Given the description of an element on the screen output the (x, y) to click on. 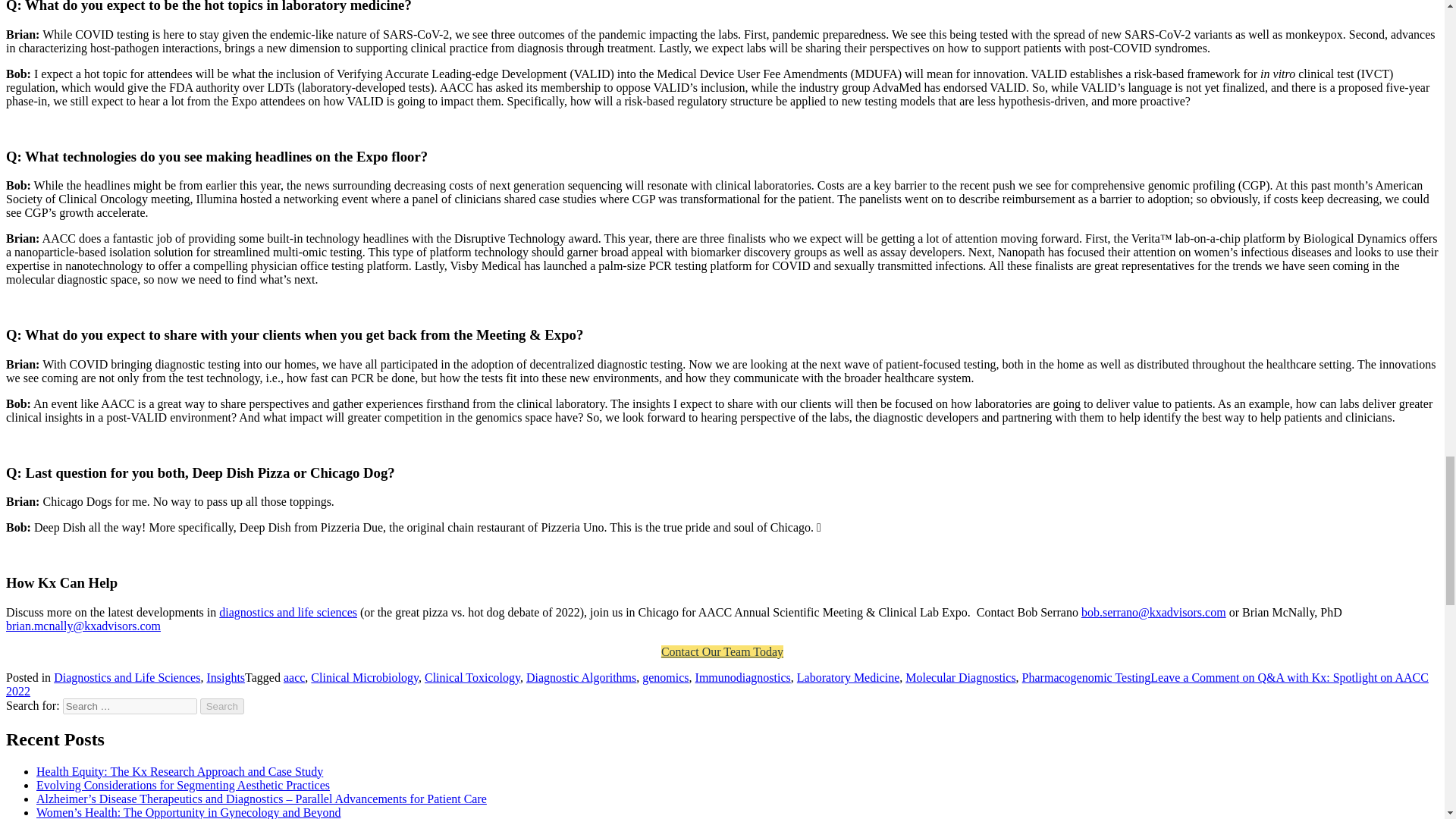
Search (222, 706)
Search (222, 706)
